Given the description of an element on the screen output the (x, y) to click on. 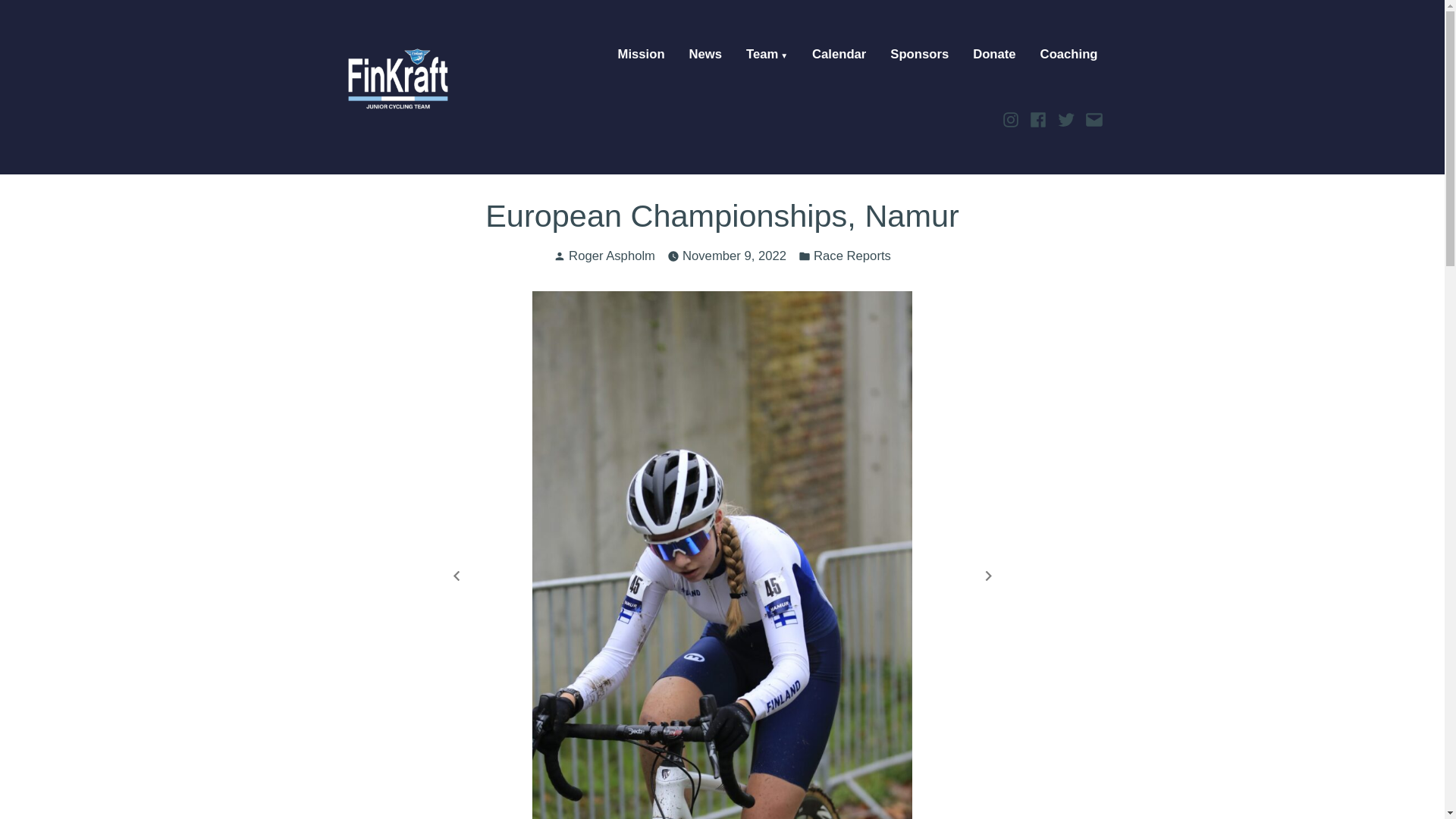
Twitter (1066, 118)
Coaching (1069, 55)
Donate (993, 55)
November 9, 2022 (734, 256)
News (705, 55)
Facebook (1038, 118)
Calendar (839, 55)
Team (766, 55)
Email (1091, 118)
